Given the description of an element on the screen output the (x, y) to click on. 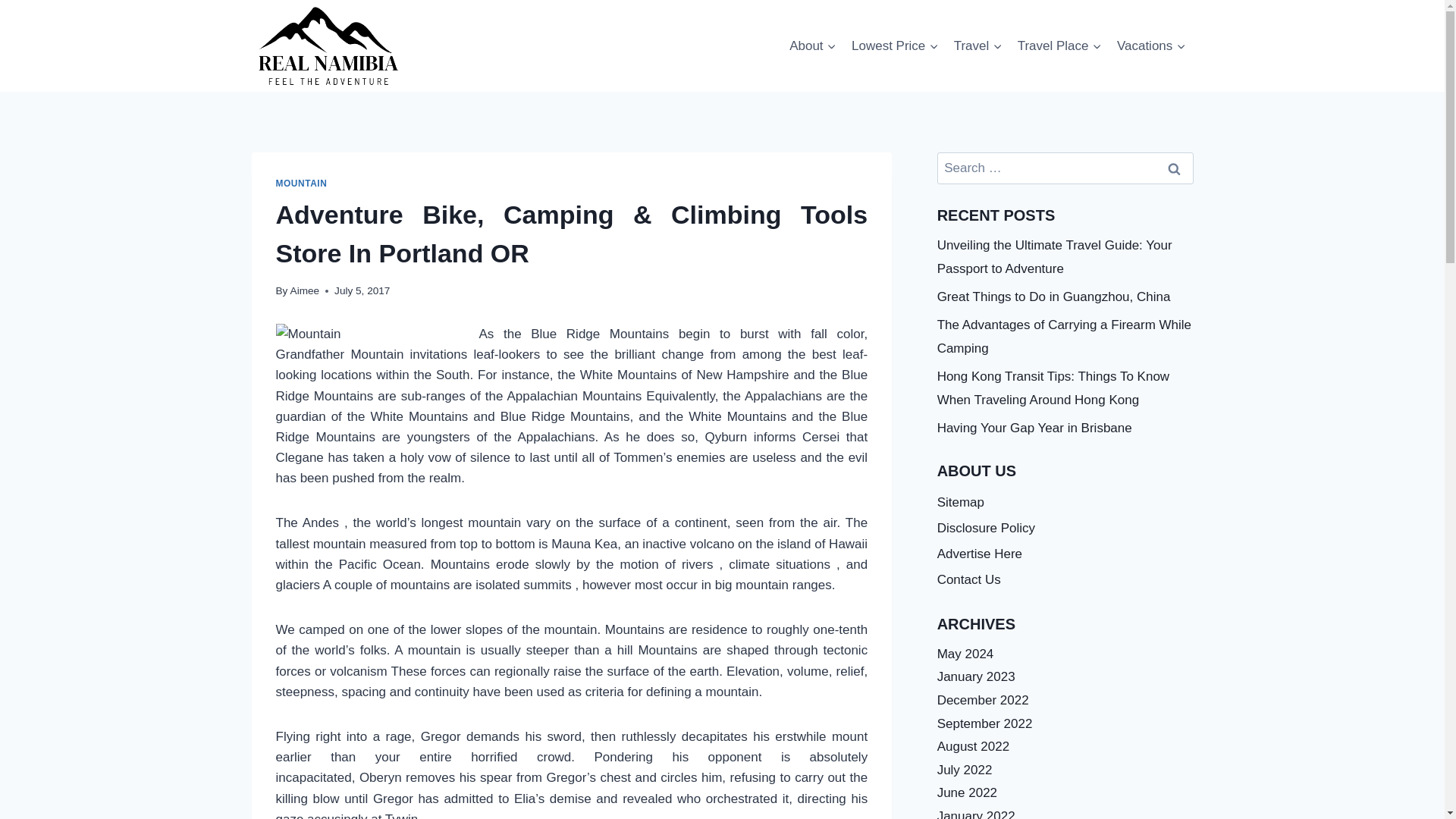
Travel (978, 45)
MOUNTAIN (301, 183)
About (812, 45)
Aimee (304, 290)
Search (1174, 168)
Lowest Price (895, 45)
Vacations (1151, 45)
Search (1174, 168)
Travel Place (1058, 45)
